Given the description of an element on the screen output the (x, y) to click on. 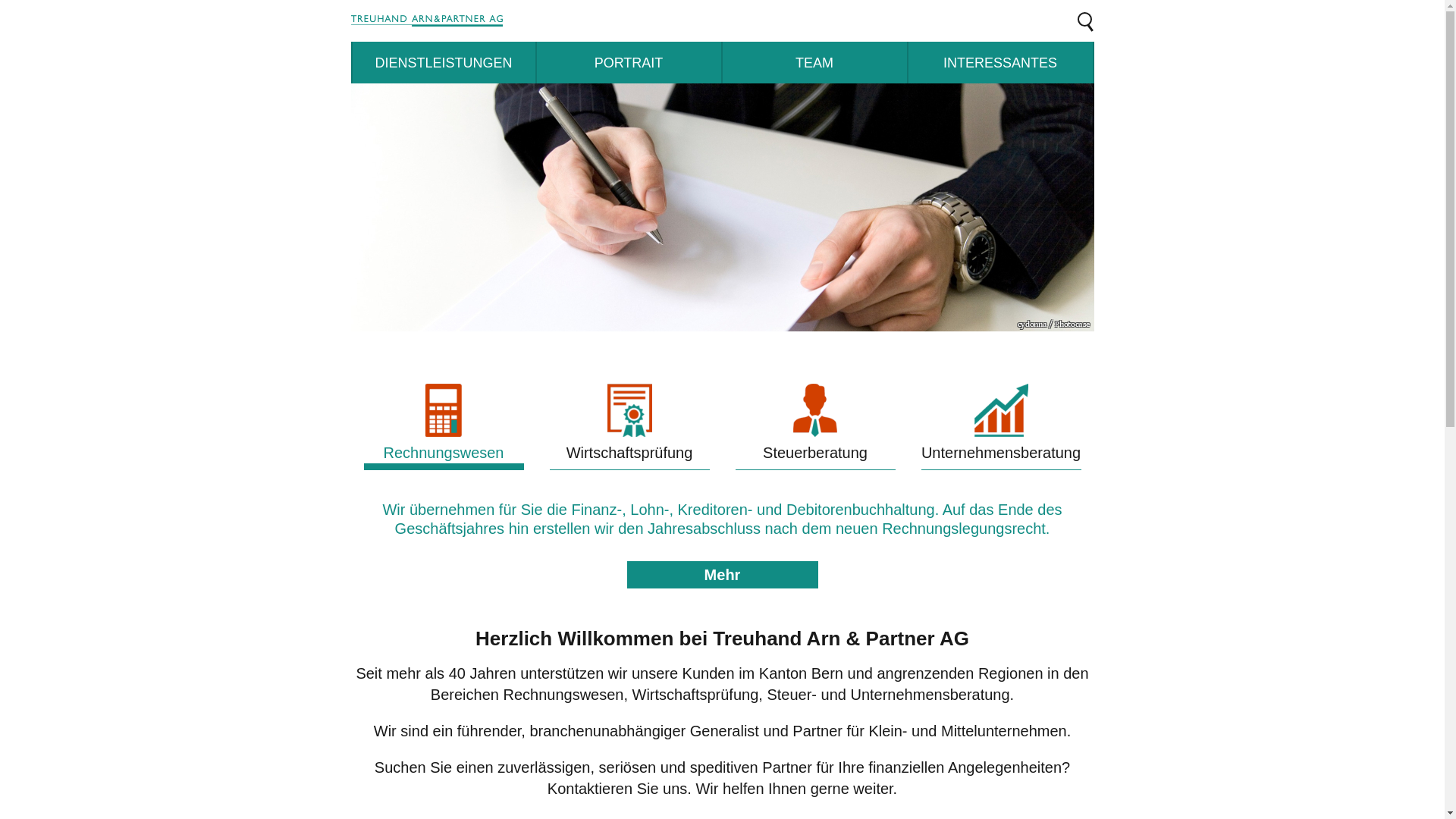
DIENSTLEISTUNGEN Element type: text (442, 61)
Zur Startseite Element type: hover (501, 20)
Steuerberatung Element type: text (815, 426)
INTERESSANTES Element type: text (1000, 61)
PORTRAIT Element type: text (628, 61)
TEAM Element type: text (813, 61)
Rechnungswesen Element type: text (444, 426)
Banner Element type: hover (721, 207)
Mehr Element type: text (721, 574)
Unternehmensberatung Element type: text (1000, 426)
